Given the description of an element on the screen output the (x, y) to click on. 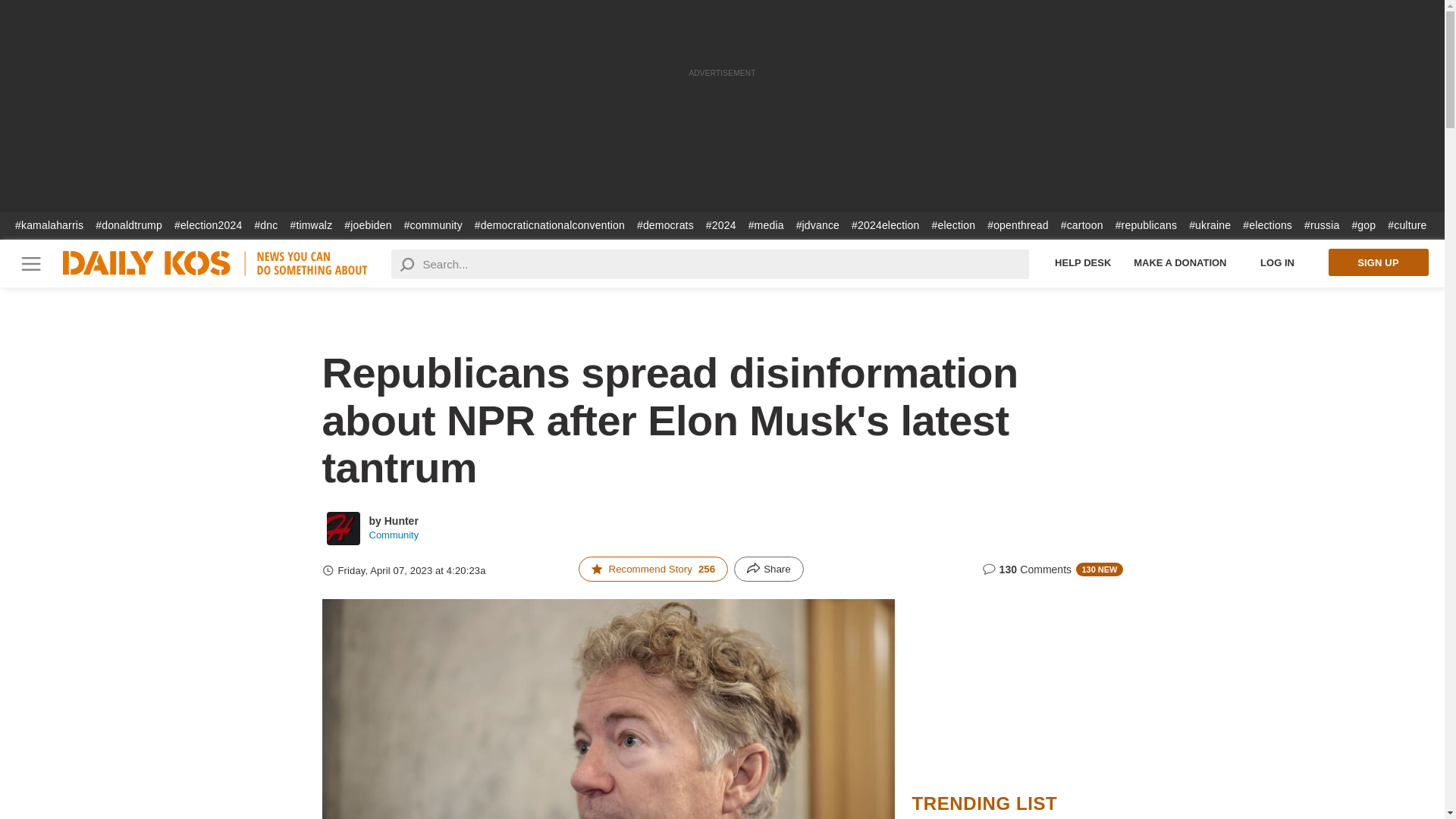
Help Desk (1082, 262)
MAKE A DONATION (1179, 262)
Make a Donation (1179, 262)
